Given the description of an element on the screen output the (x, y) to click on. 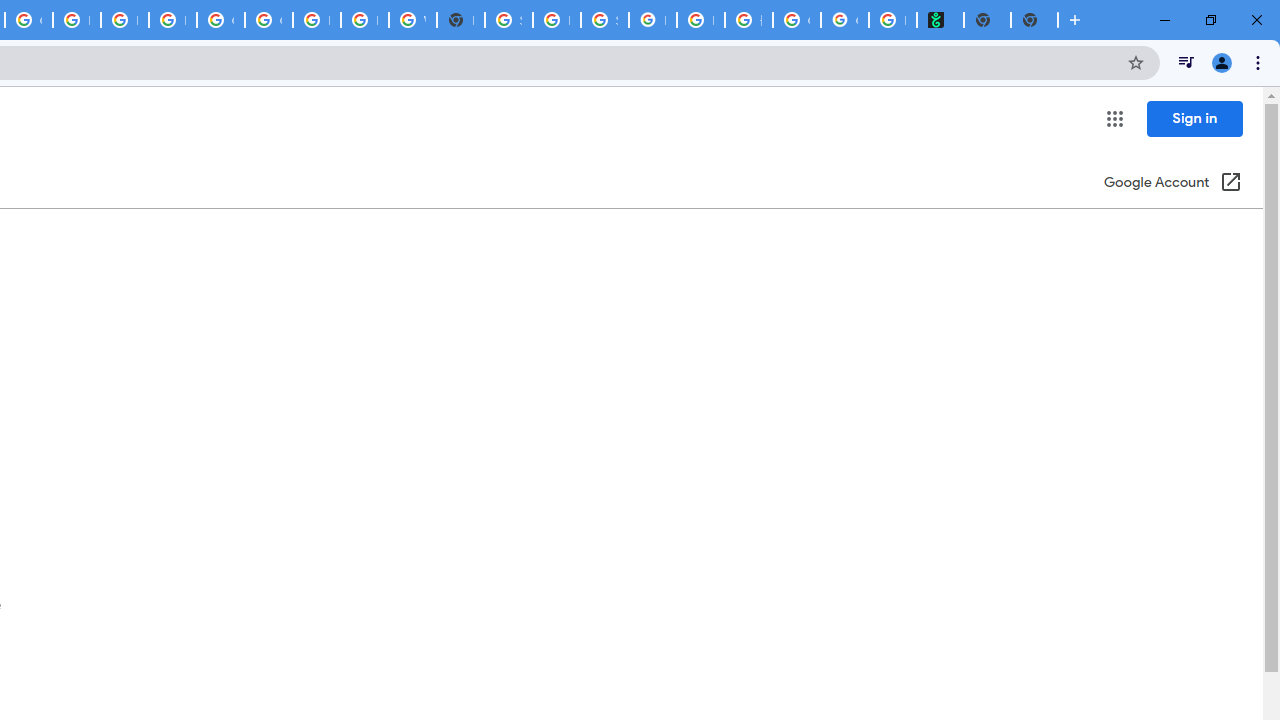
Google Cloud Platform (268, 20)
Google Account (Open in a new window) (1172, 183)
Sign in - Google Accounts (508, 20)
Browse Chrome as a guest - Computer - Google Chrome Help (316, 20)
Google Cloud Platform (220, 20)
